Given the description of an element on the screen output the (x, y) to click on. 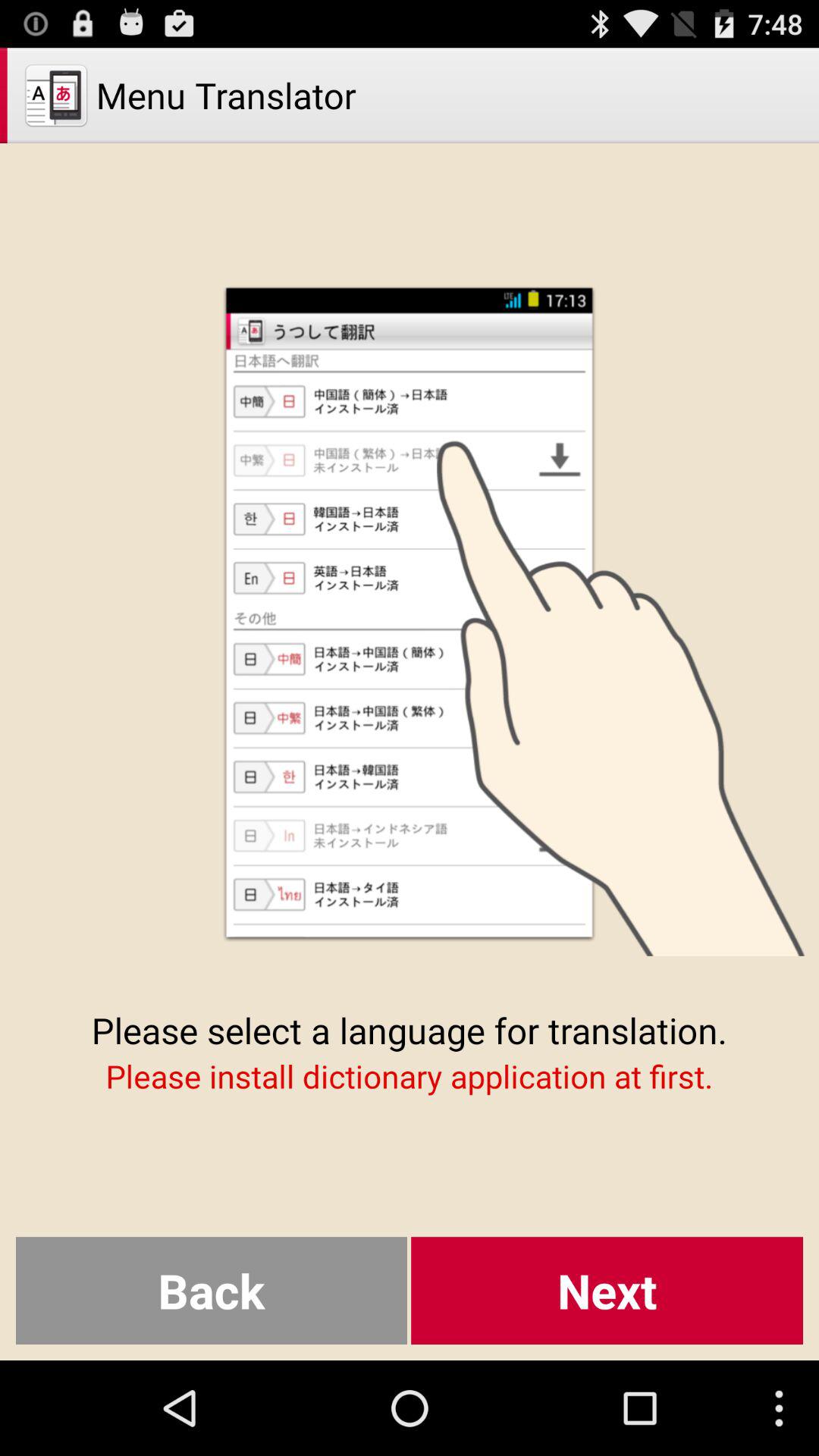
choose the next at the bottom right corner (607, 1290)
